Given the description of an element on the screen output the (x, y) to click on. 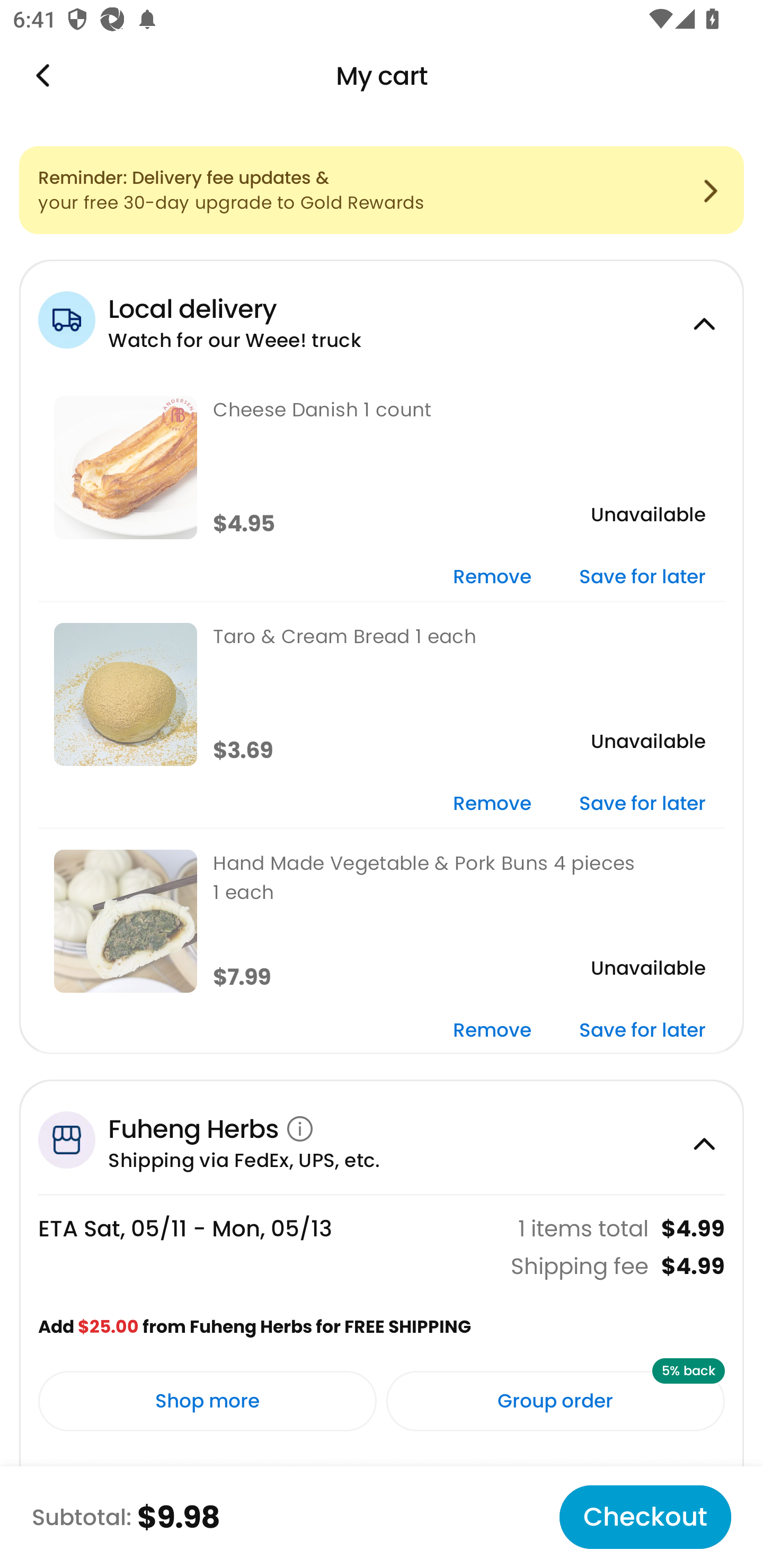
Local delivery Watch for our Weee! truck (381, 317)
Remove (491, 577)
Save for later (642, 577)
Remove (491, 804)
Save for later (642, 804)
Remove (491, 1030)
Save for later (642, 1030)
Fuheng Herbs Shipping via FedEx, UPS, etc. (381, 1136)
Shop more (207, 1400)
Group order (555, 1400)
HUAI NIU XI - Custom Amount 100g 1 each (381, 1509)
Checkout (644, 1516)
